Given the description of an element on the screen output the (x, y) to click on. 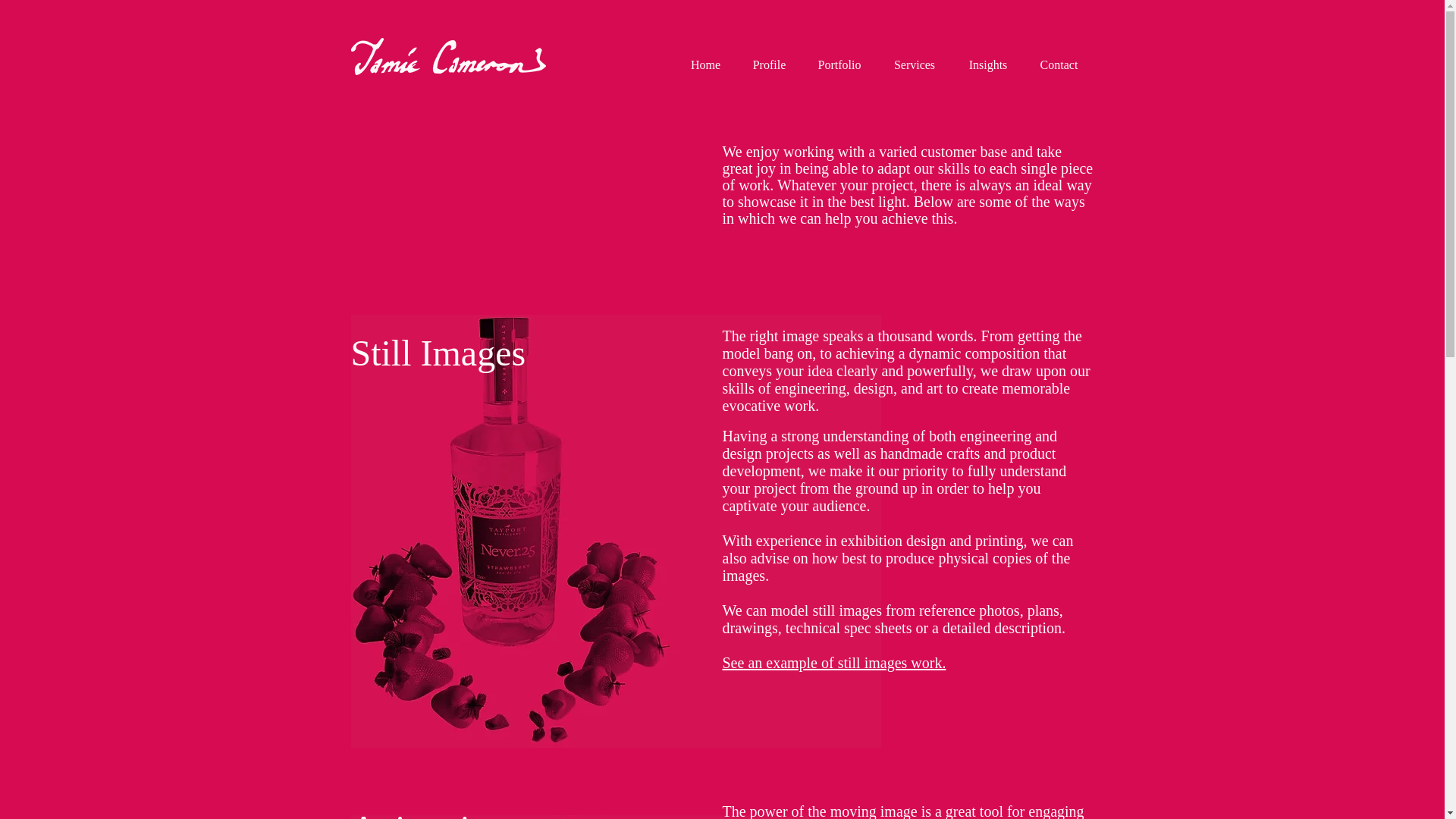
Portfolio (839, 64)
Home (705, 64)
Services (914, 64)
Insights (988, 64)
Profile (769, 64)
JC Logo - Cream RGB.png (447, 56)
See an example of still images work. (833, 662)
Contact (1058, 64)
